Given the description of an element on the screen output the (x, y) to click on. 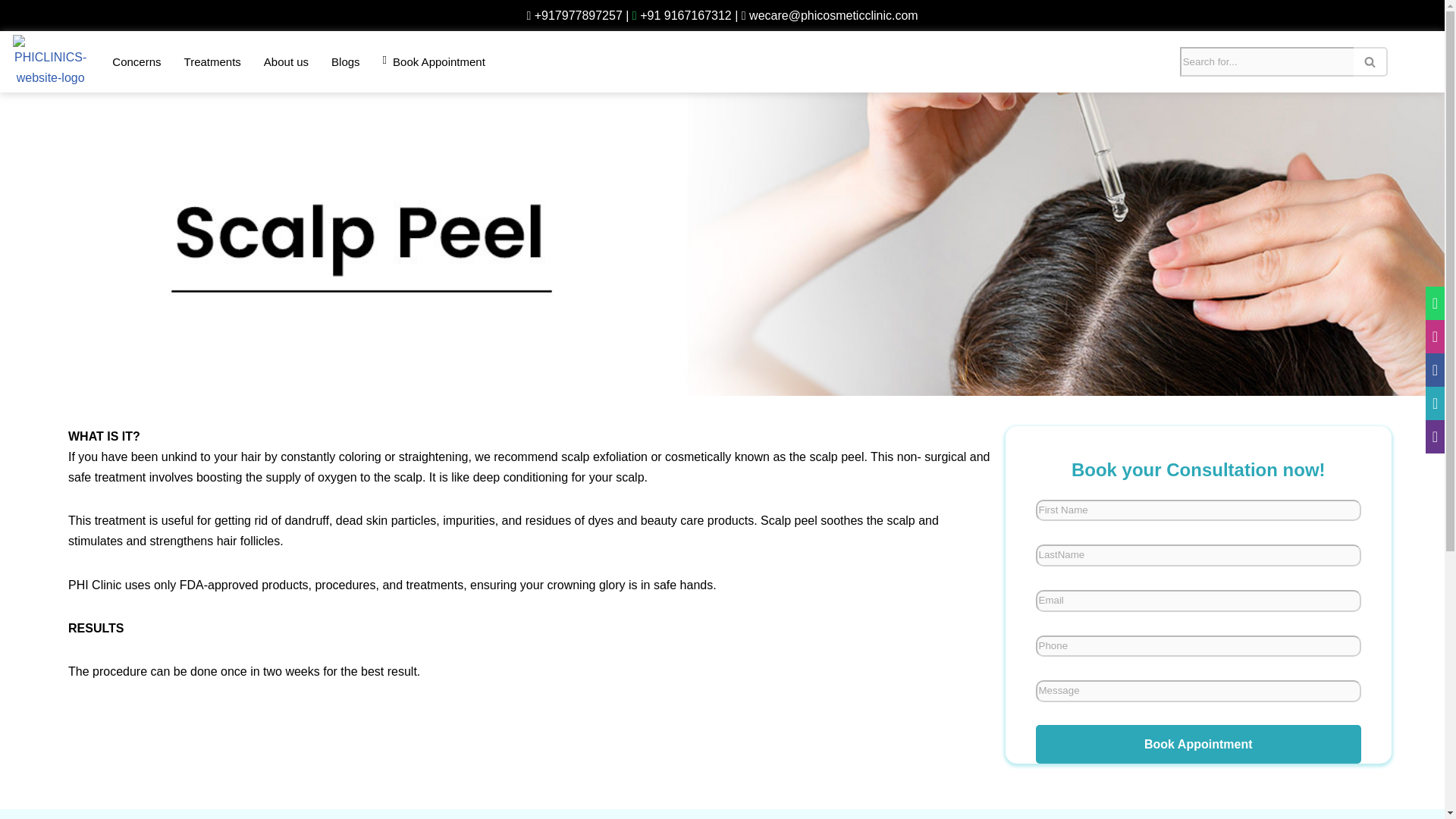
Skip to content (11, 31)
PHICLINICS-website-logo (50, 61)
Treatments (212, 60)
Concerns (135, 60)
Book Appointment (1198, 744)
